Given the description of an element on the screen output the (x, y) to click on. 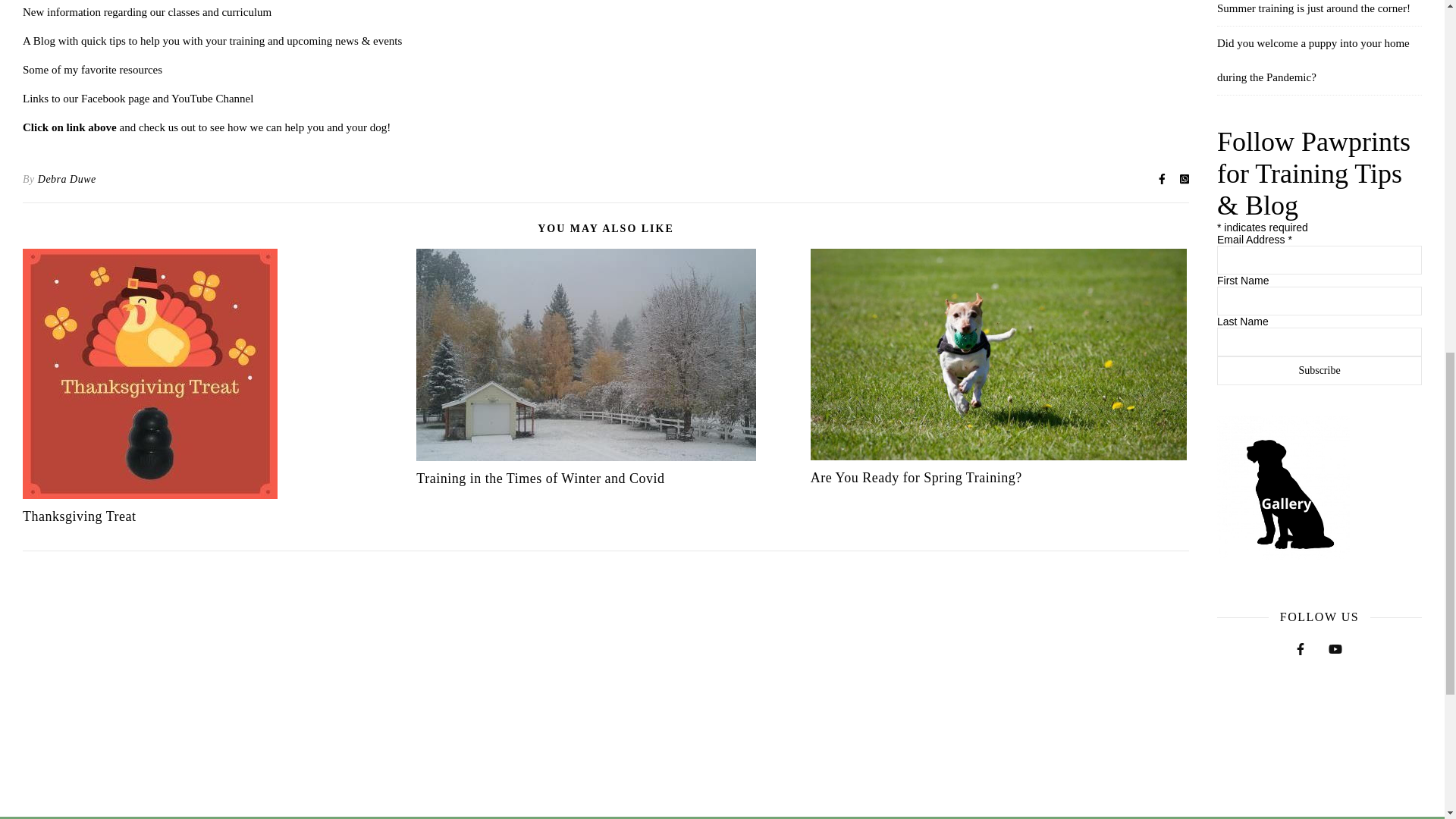
Posts by Debra Duwe (66, 179)
Subscribe (1319, 370)
